Given the description of an element on the screen output the (x, y) to click on. 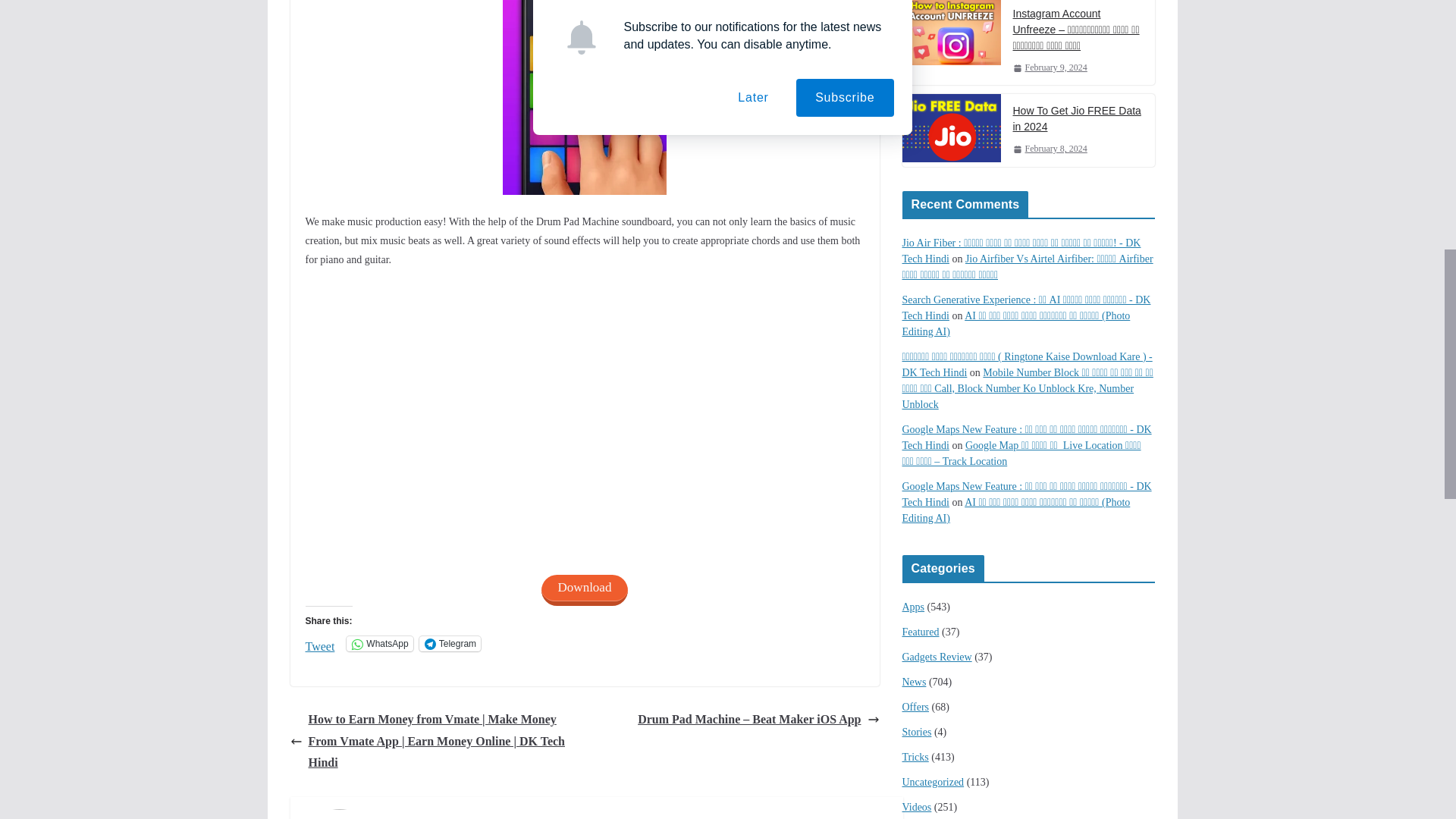
Download (584, 590)
Click to share on WhatsApp (379, 643)
Click to share on Telegram (449, 643)
Tweet (319, 643)
Telegram (449, 643)
WhatsApp (379, 643)
